Given the description of an element on the screen output the (x, y) to click on. 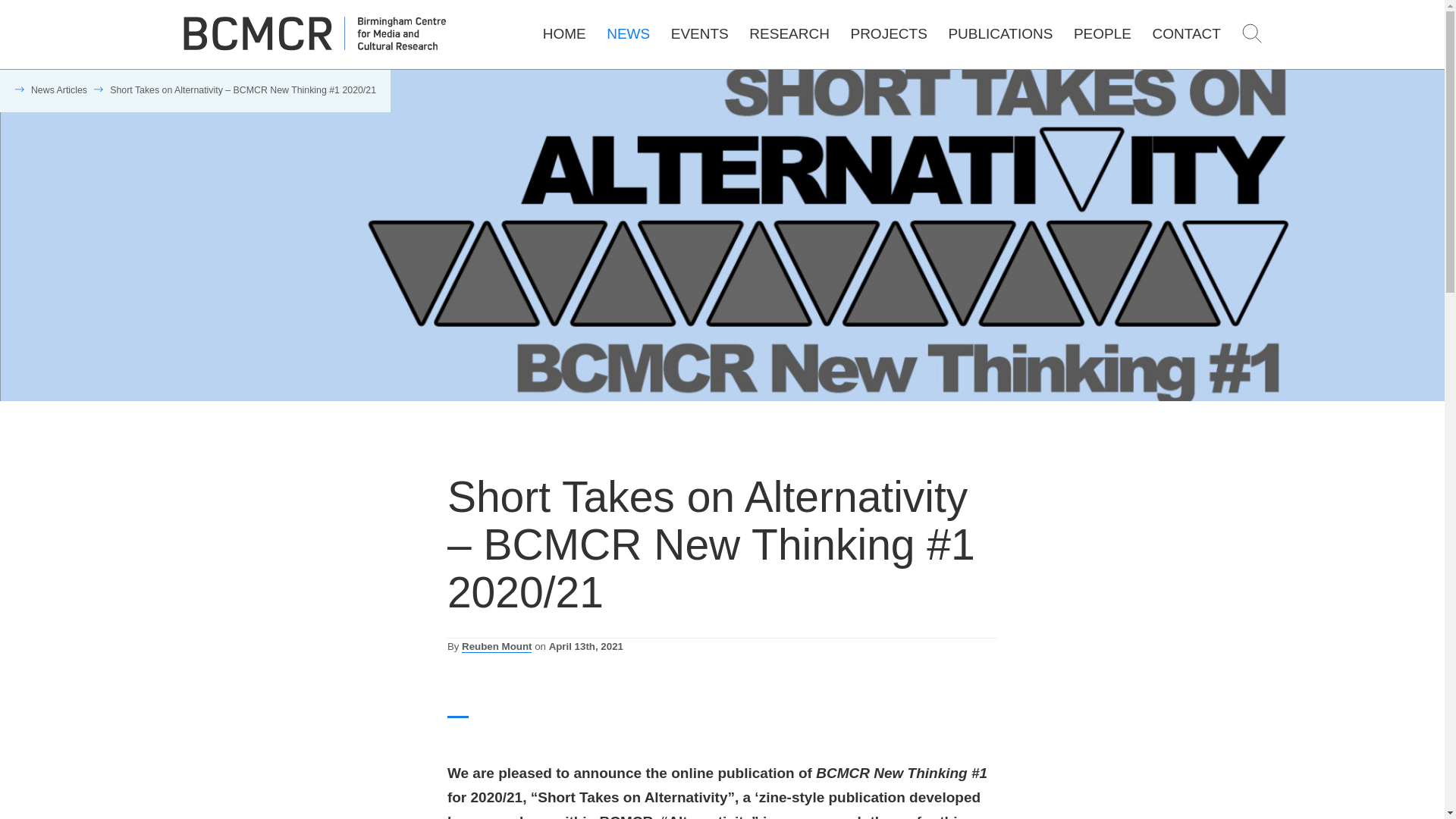
CONTACT (1185, 33)
Reuben Mount (496, 646)
PUBLICATIONS (999, 33)
PROJECTS (888, 33)
EVENTS (700, 33)
RESEARCH (789, 33)
NEWS (628, 33)
News Articles (58, 90)
PEOPLE (1102, 33)
HOME (564, 33)
